Given the description of an element on the screen output the (x, y) to click on. 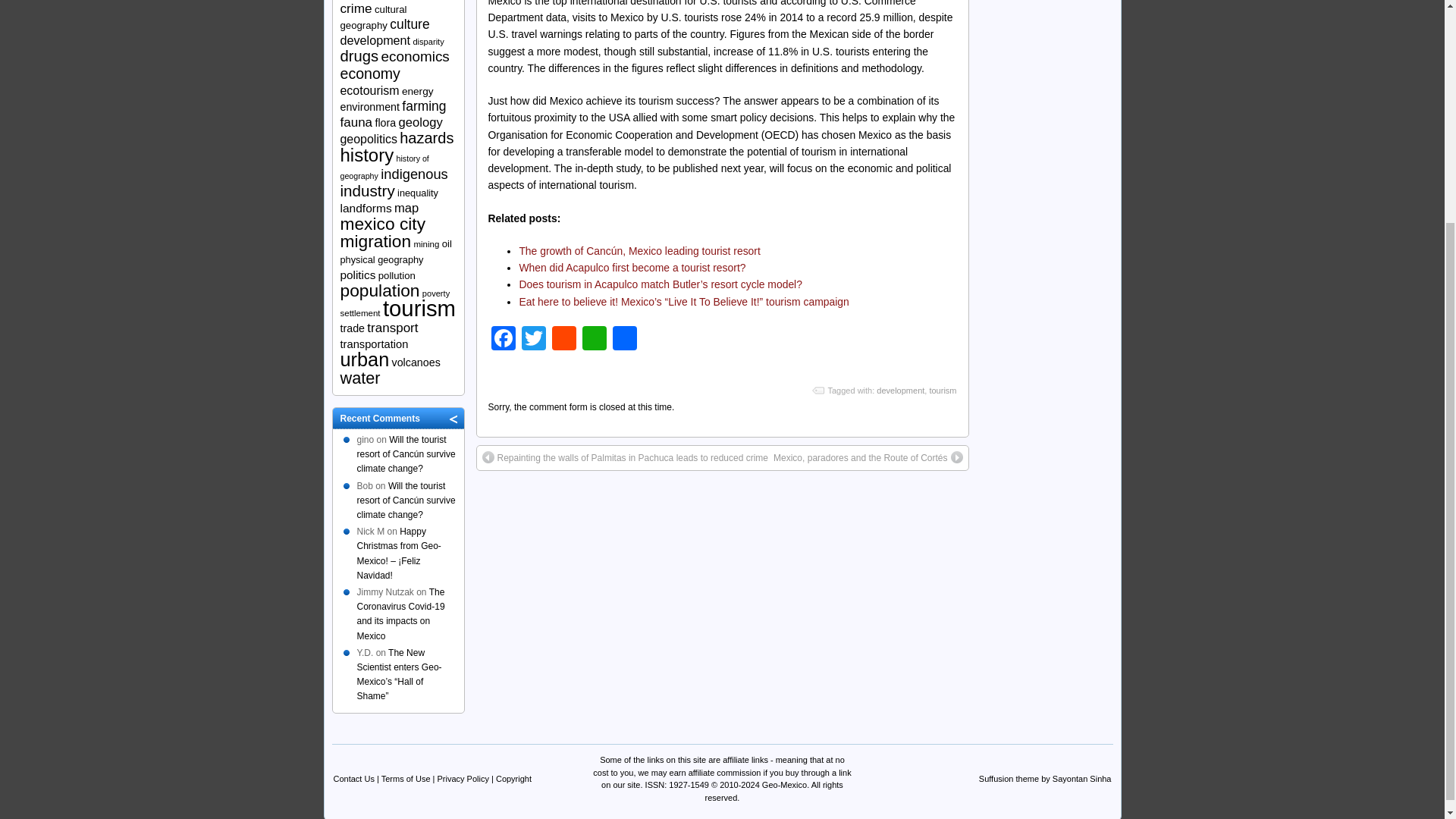
WhatsApp (594, 339)
Share (625, 339)
WhatsApp (594, 339)
tourism (942, 389)
Reddit (563, 339)
Twitter (533, 339)
When did Acapulco first become a tourist resort? (631, 267)
disparity (428, 40)
energy (417, 91)
Facebook (502, 339)
click-down and drag to move this box (397, 418)
economy (368, 73)
Facebook (502, 339)
culture (409, 23)
Twitter (533, 339)
